Given the description of an element on the screen output the (x, y) to click on. 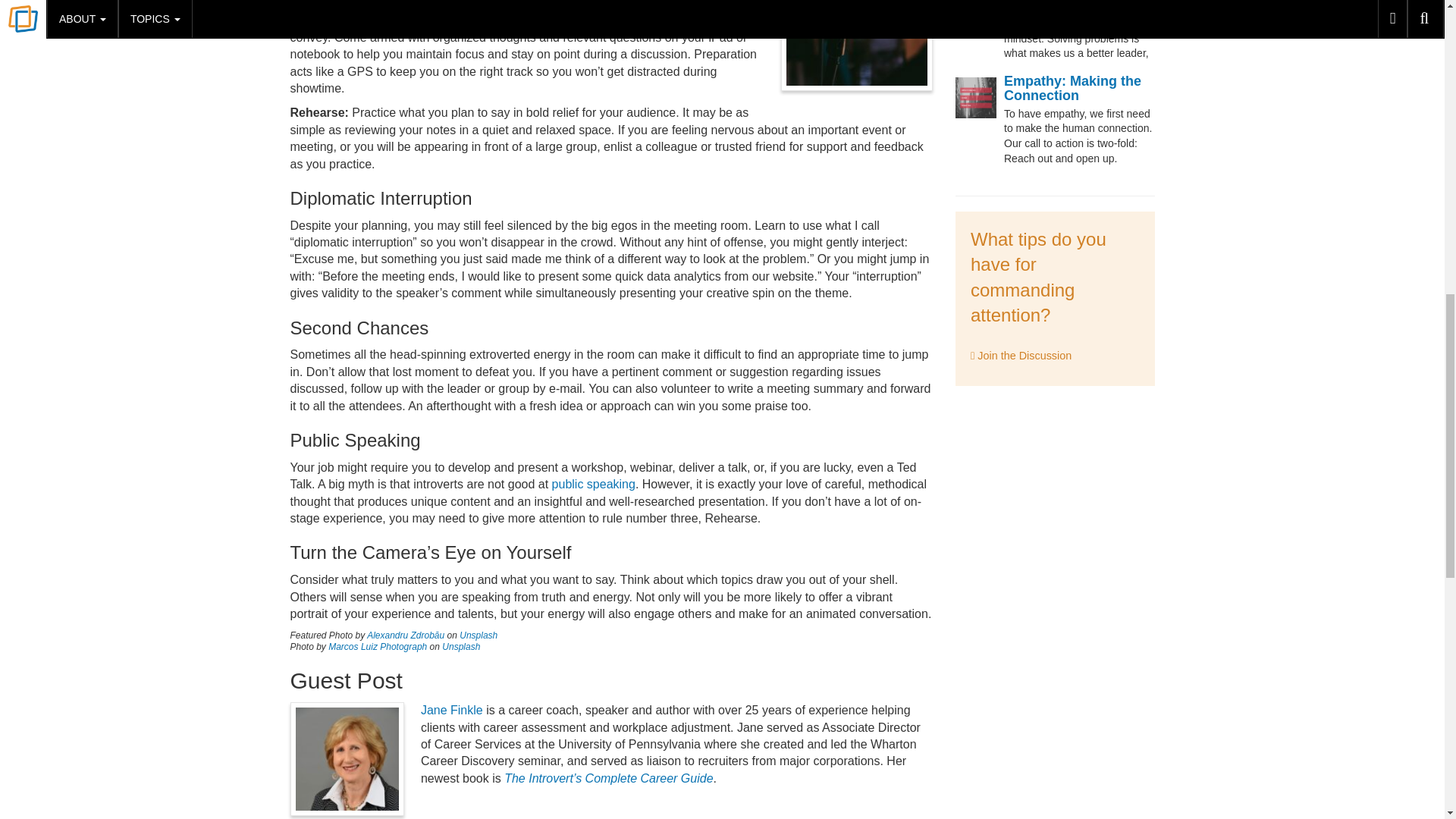
public speaking (592, 483)
Jane Finkle (451, 709)
Unsplash (461, 646)
Empathy: Making the Connection (1072, 88)
Unsplash (478, 634)
Marcos Luiz Photograph (377, 646)
